Given the description of an element on the screen output the (x, y) to click on. 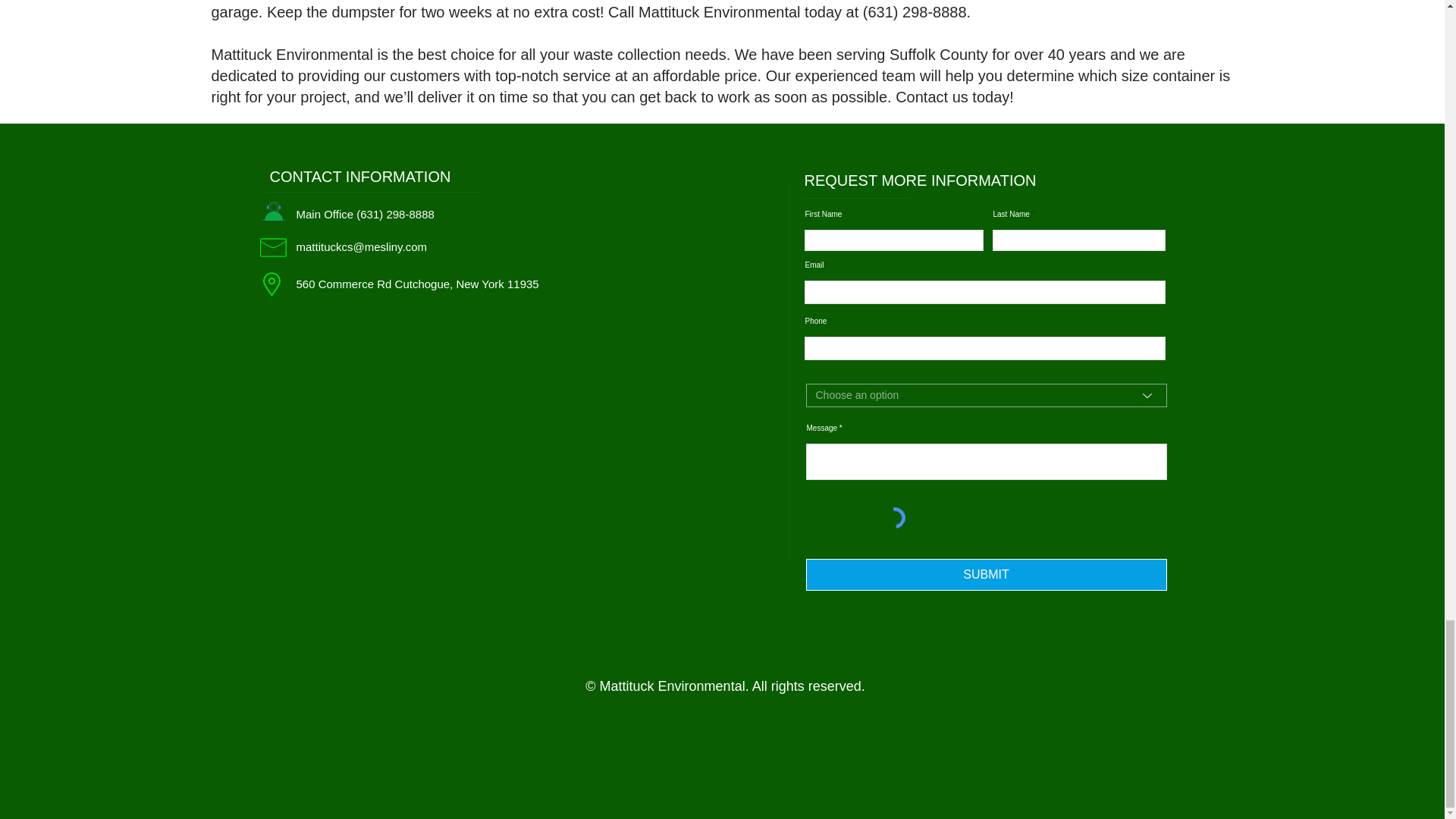
SUBMIT (985, 574)
560 Commerce Rd Cutchogue, New York 11935 (416, 283)
